Given the description of an element on the screen output the (x, y) to click on. 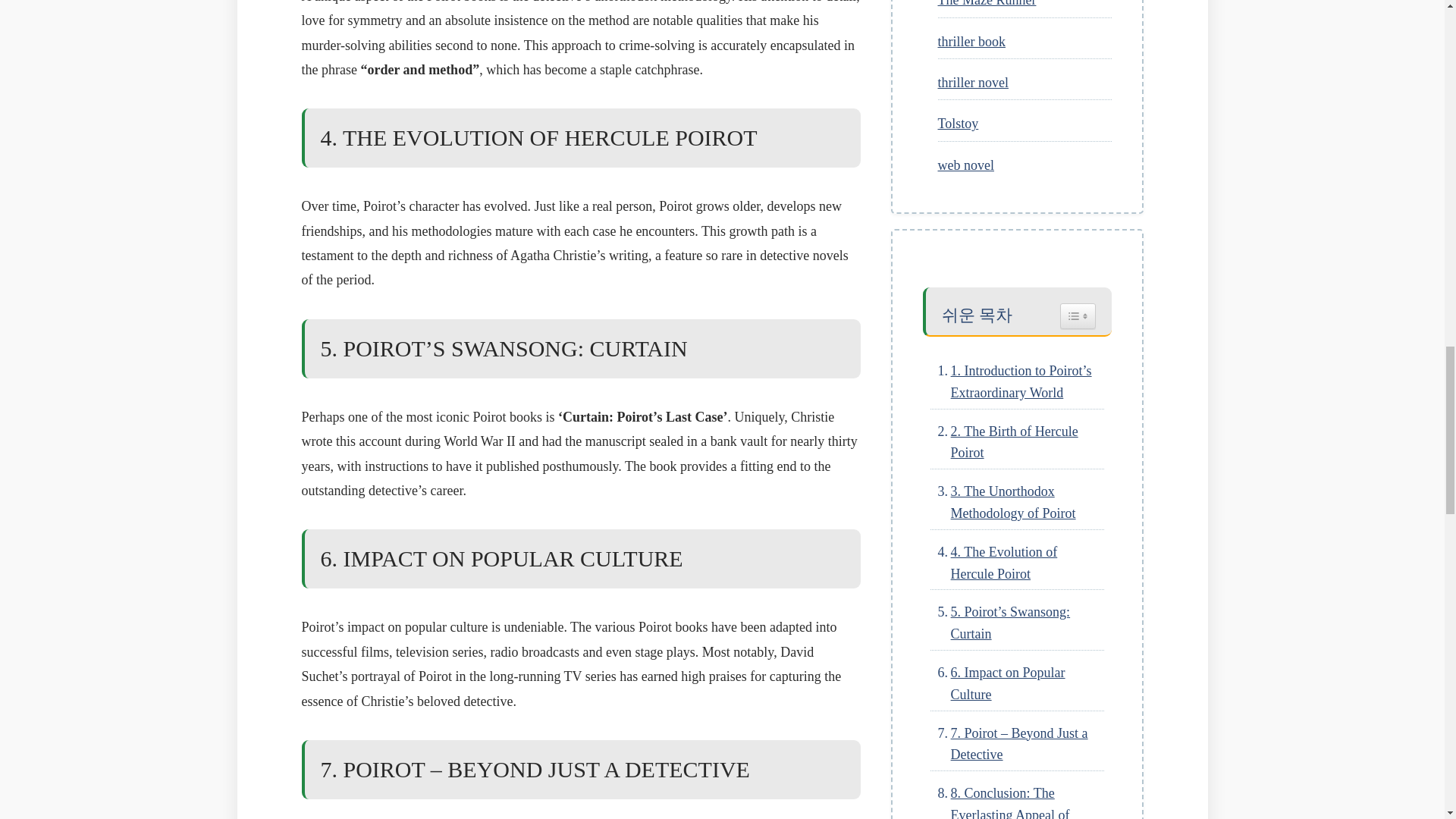
2. The Birth of Hercule Poirot (1016, 442)
4. The Evolution of Hercule Poirot (1016, 563)
3. The Unorthodox Methodology of Poirot (1016, 502)
6. Impact on Popular Culture (1016, 683)
